Given the description of an element on the screen output the (x, y) to click on. 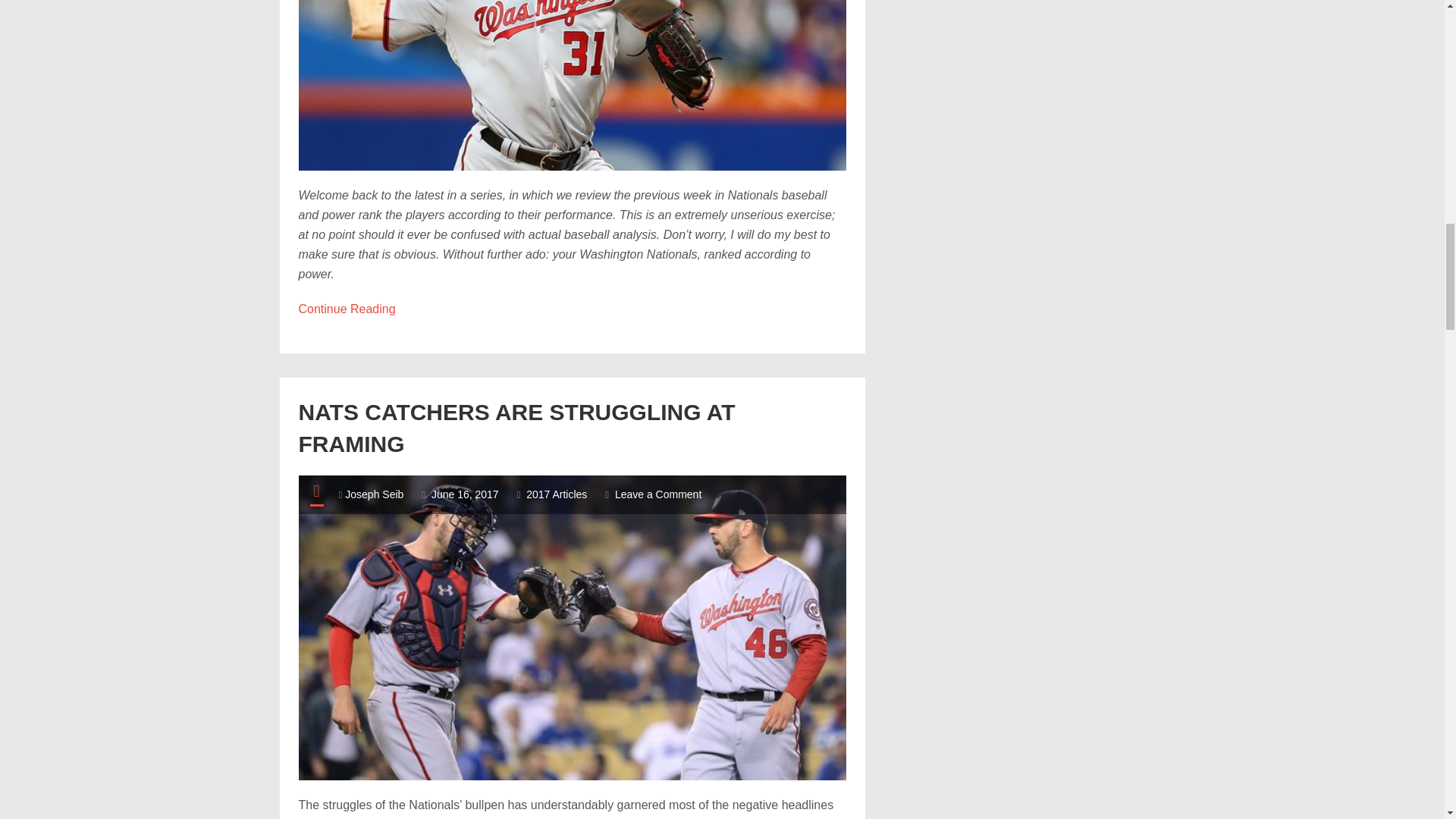
Nats Catchers Are Struggling at Framing (347, 308)
Nats Power Rankings: June 19 (464, 494)
Leave a Comment (572, 85)
2017 Articles (657, 494)
NATS CATCHERS ARE STRUGGLING AT FRAMING (555, 494)
Posts by Joseph Seib (516, 427)
Nats Catchers Are Struggling at Framing (374, 494)
Joseph Seib (516, 427)
